Given the description of an element on the screen output the (x, y) to click on. 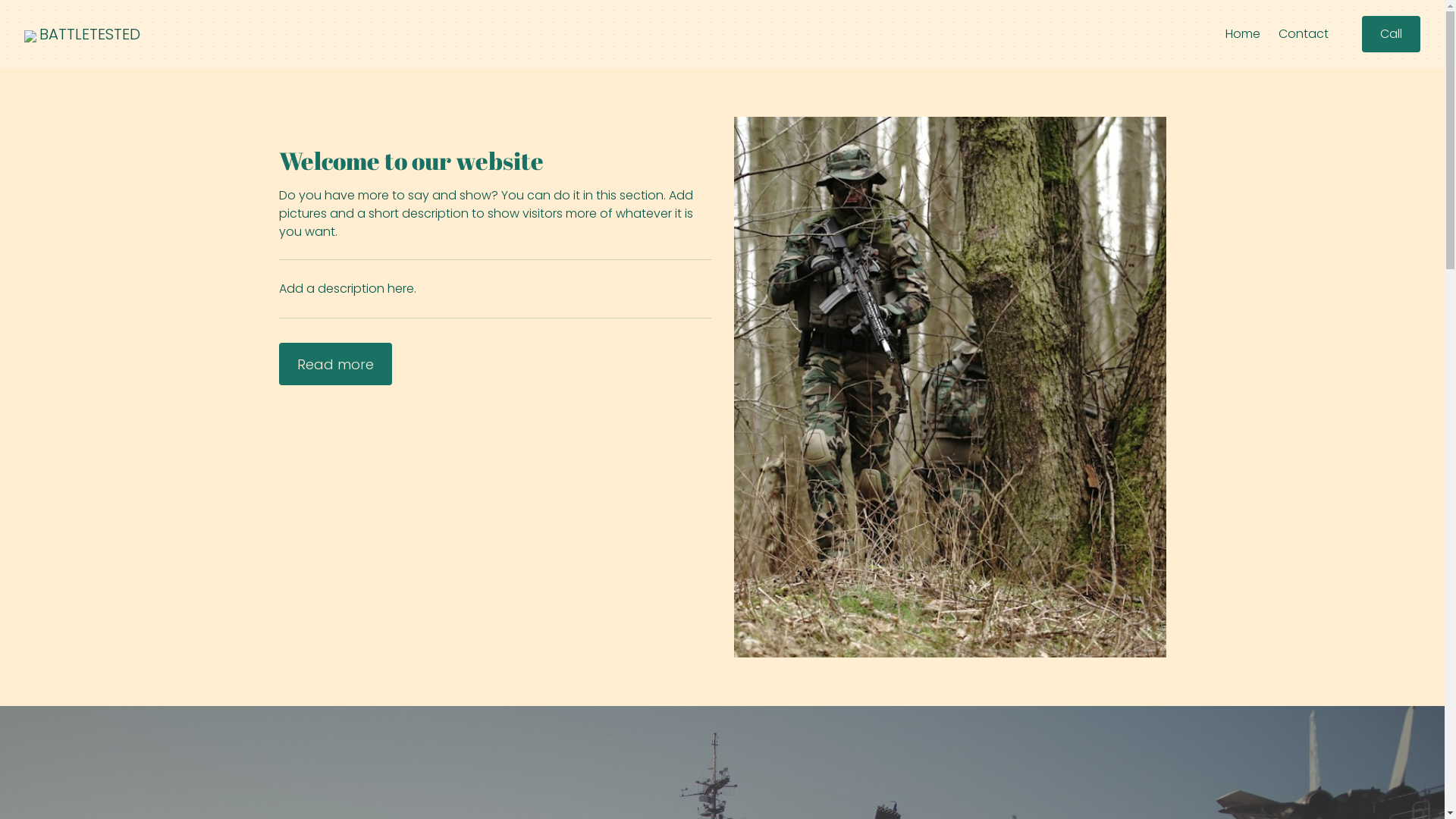
Read more Element type: text (335, 363)
Call Element type: text (1390, 33)
BATTLETESTED Element type: text (89, 33)
Contact Element type: text (1303, 33)
Home Element type: text (1242, 33)
